Given the description of an element on the screen output the (x, y) to click on. 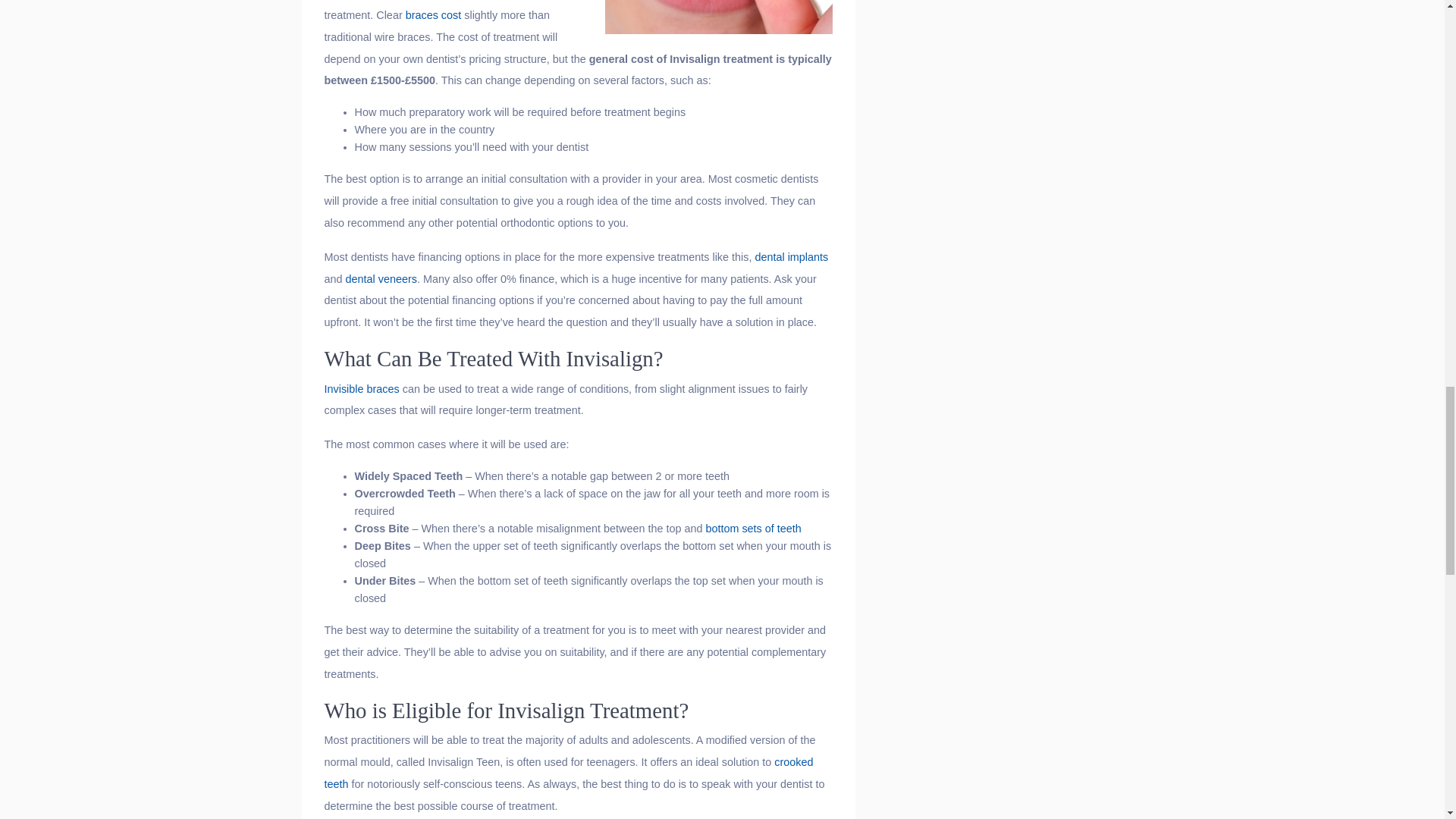
How Much Do Dental Implants Cost in the UK? (791, 256)
braces cost (433, 15)
bottom sets of teeth (752, 528)
dental veneers (381, 278)
Invisible braces (361, 387)
crooked teeth (568, 772)
dental implants (791, 256)
